Given the description of an element on the screen output the (x, y) to click on. 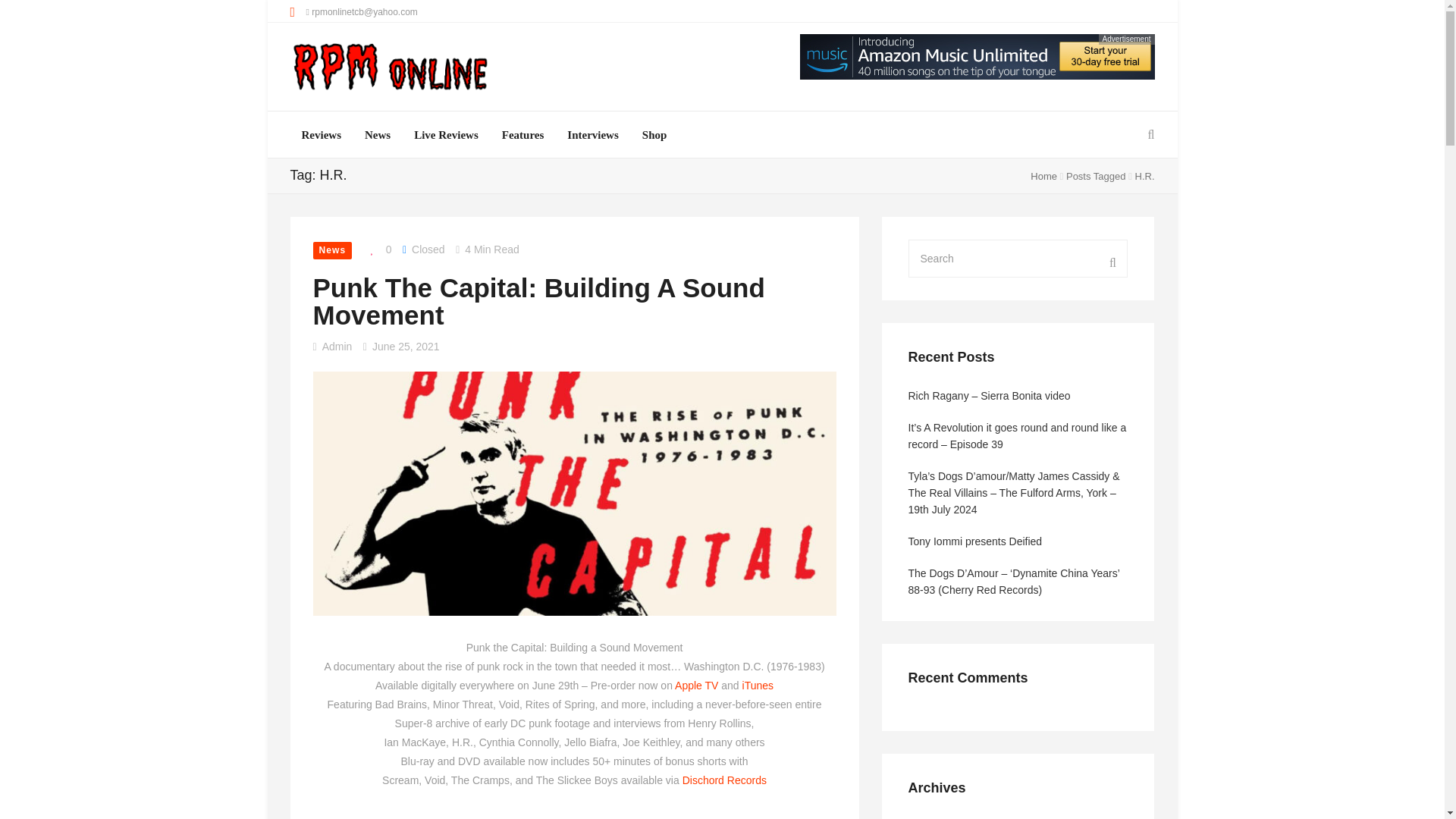
Live Reviews (446, 135)
RPM Online (389, 68)
Live Reviews (446, 135)
Interviews (592, 135)
Like this (376, 249)
Features (523, 135)
